Given the description of an element on the screen output the (x, y) to click on. 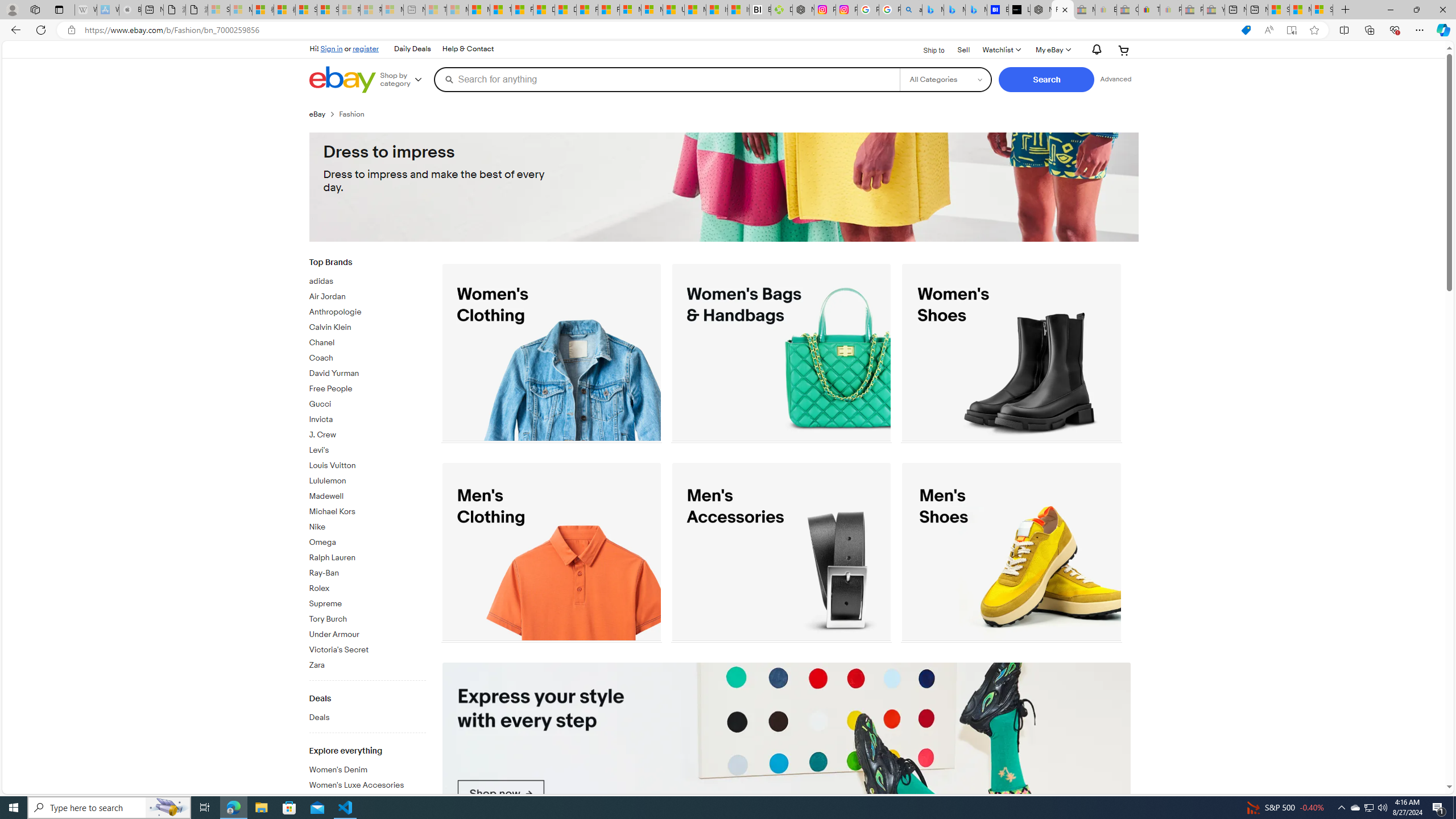
Shop by category (405, 79)
Levi's (367, 448)
Invicta (367, 417)
Women's Luxe Accesories (367, 785)
Women's Luxe Accesories (367, 783)
Food and Drink - MSN (522, 9)
AutomationID: gh-eb-Alerts (1094, 49)
Gucci (367, 402)
Free People (367, 386)
Madewell (367, 494)
eBay (317, 113)
Help & Contact (467, 49)
Invicta (367, 419)
Ralph Lauren (367, 557)
